Given the description of an element on the screen output the (x, y) to click on. 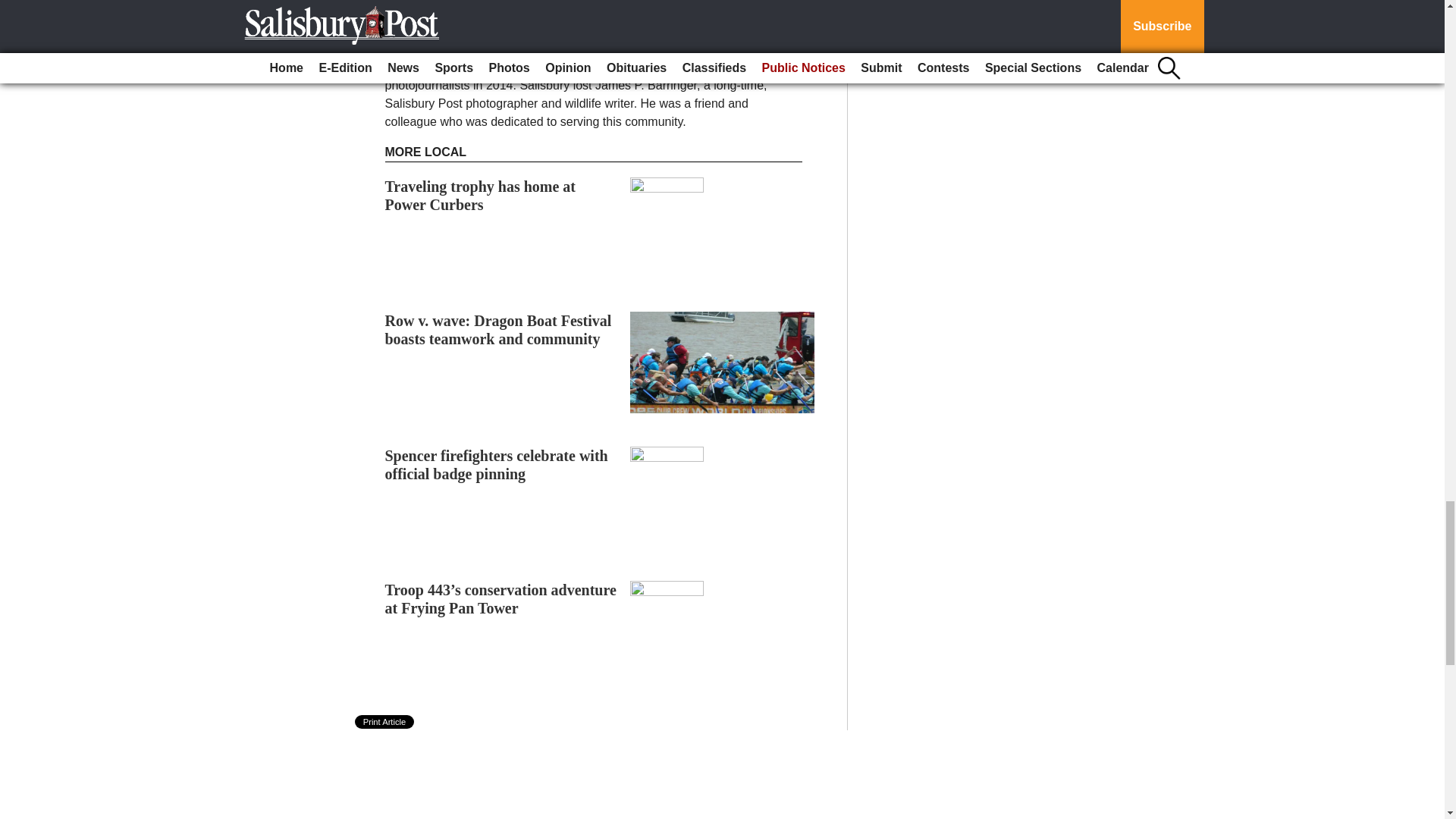
Spencer firefighters celebrate with official badge pinning (496, 464)
Traveling trophy has home at Power Curbers (480, 195)
